Given the description of an element on the screen output the (x, y) to click on. 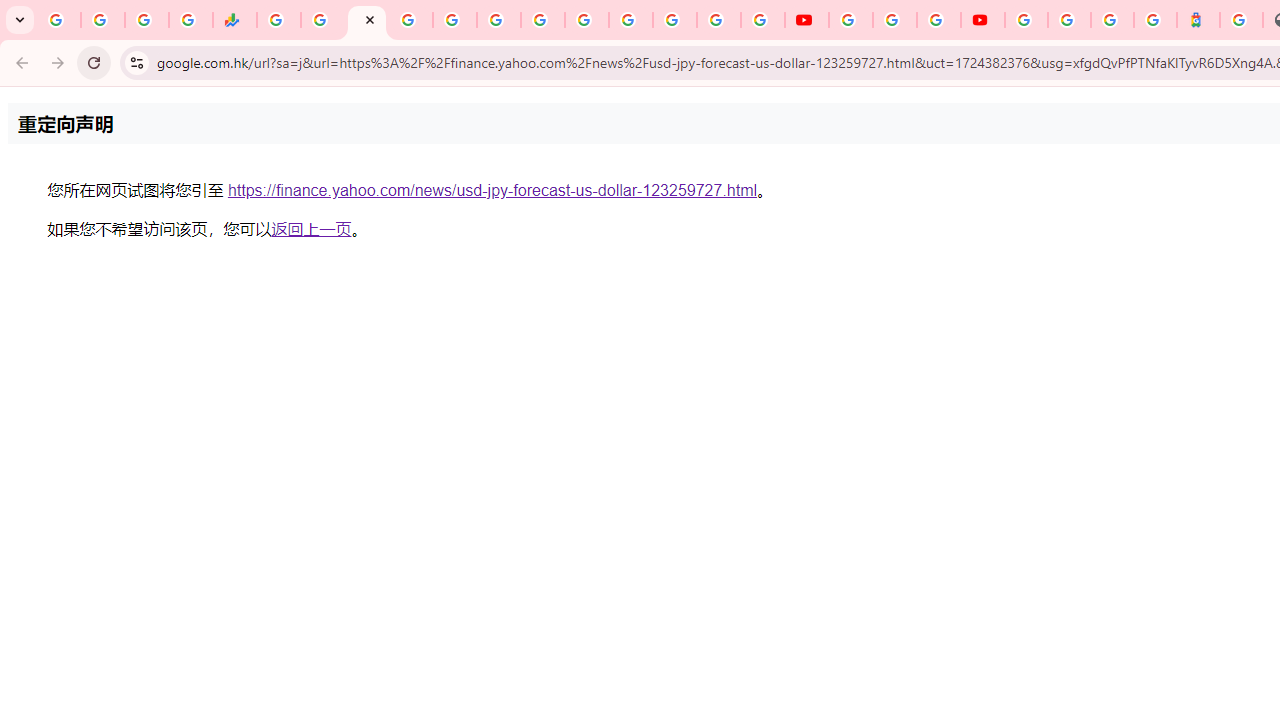
Sign in - Google Accounts (1069, 20)
Content Creator Programs & Opportunities - YouTube Creators (982, 20)
Sign in - Google Accounts (1026, 20)
YouTube (806, 20)
